Given the description of an element on the screen output the (x, y) to click on. 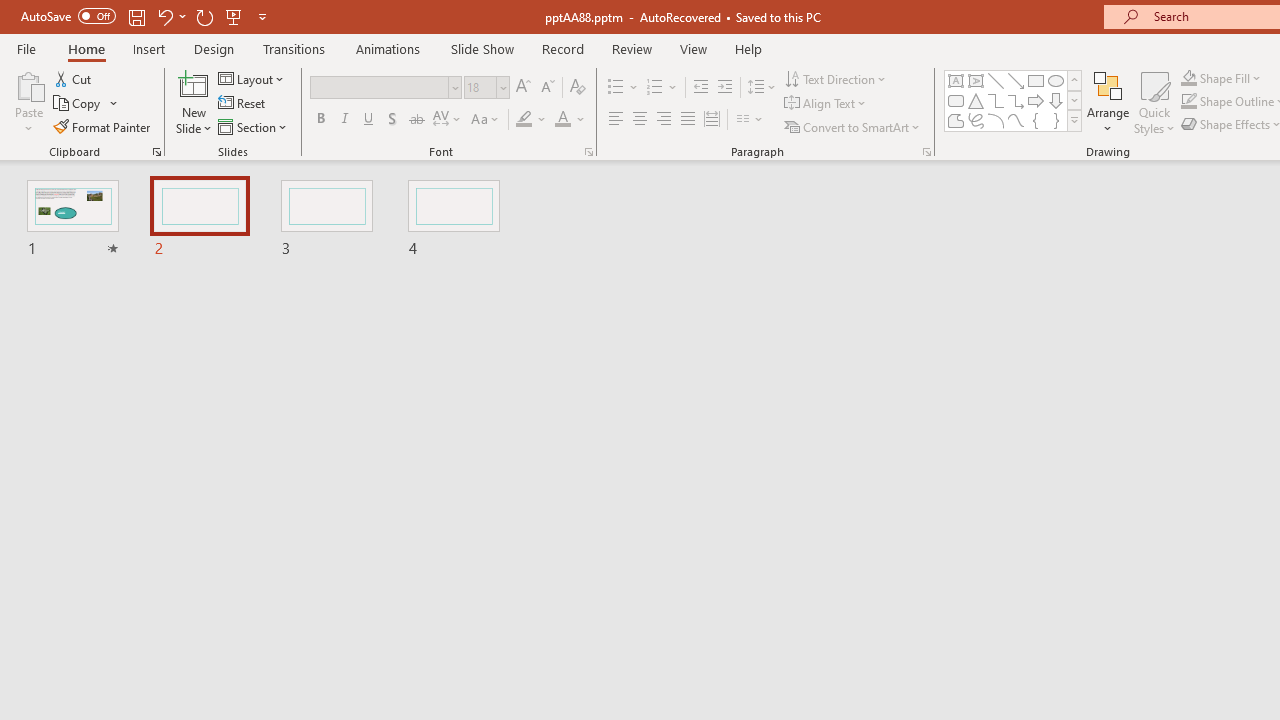
Shape Outline Teal, Accent 1 (1188, 101)
